Given the description of an element on the screen output the (x, y) to click on. 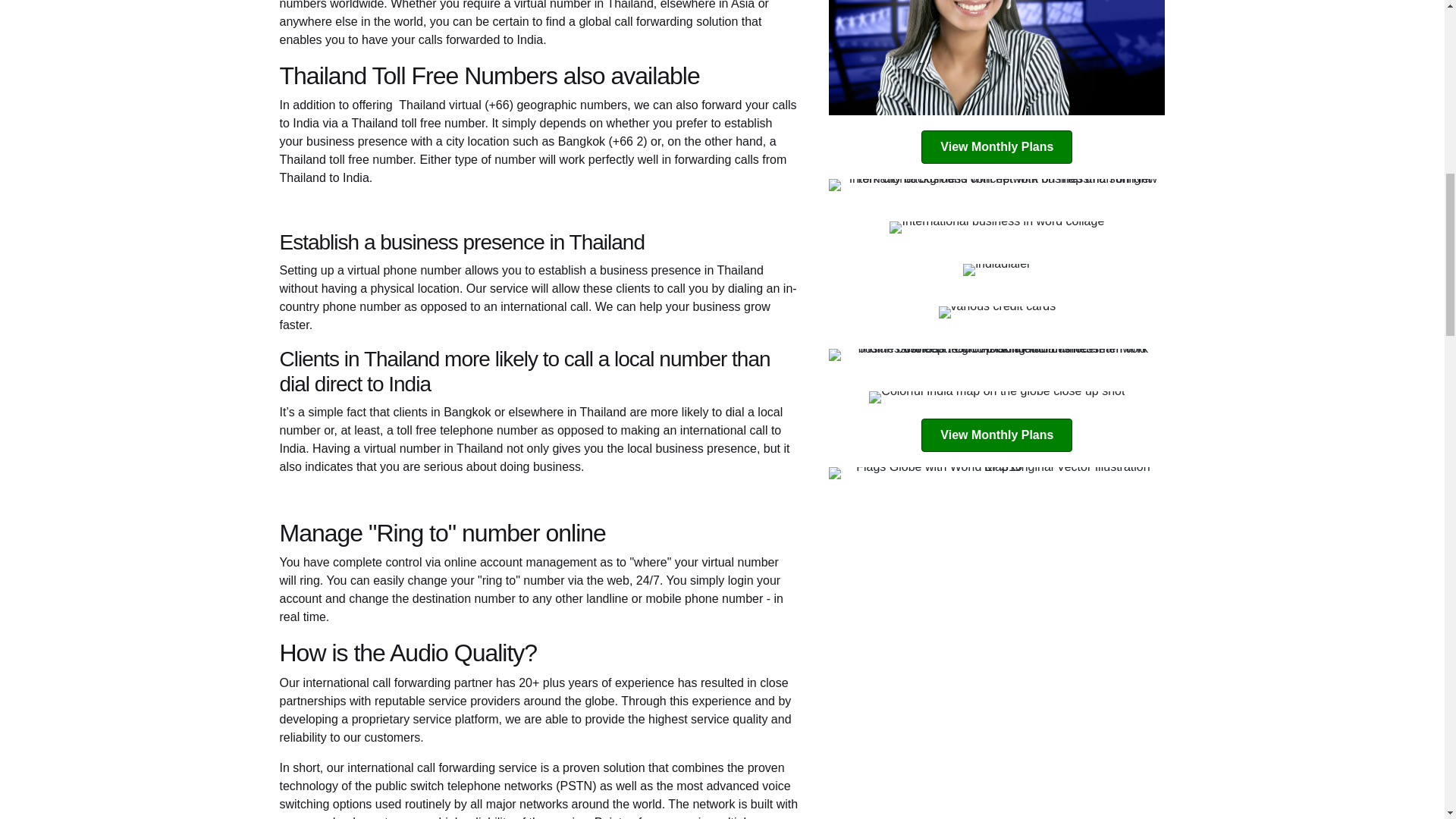
indiadialer (996, 269)
Colorful India Map On The Globe Close Up Shot (996, 397)
View Monthly Plans (996, 146)
Beautiful Indian Woman Television News Presenter (996, 57)
various credit cards (998, 312)
View Monthly Plans (996, 435)
International Business In Word Collage (996, 227)
GlobalBusiness (996, 184)
